Given the description of an element on the screen output the (x, y) to click on. 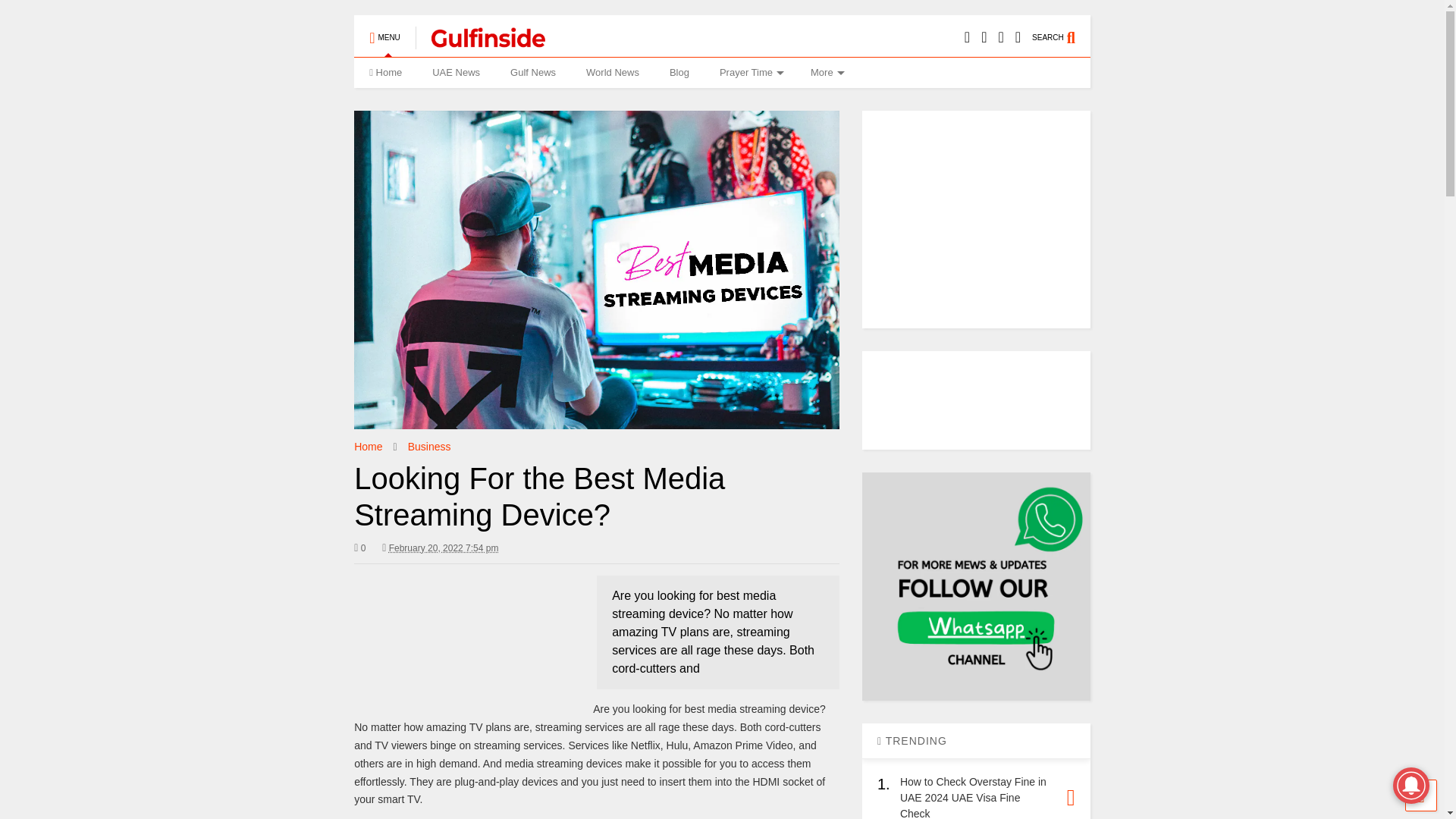
World News (611, 72)
Advertisement (466, 632)
Home (384, 72)
Gulfinside (479, 42)
February 20, 2022 7:54 pm (443, 547)
More (825, 72)
Blog (678, 72)
MENU (383, 30)
SEARCH (1061, 30)
UAE News (455, 72)
Gulf News (532, 72)
Prayer Time (749, 72)
